Given the description of an element on the screen output the (x, y) to click on. 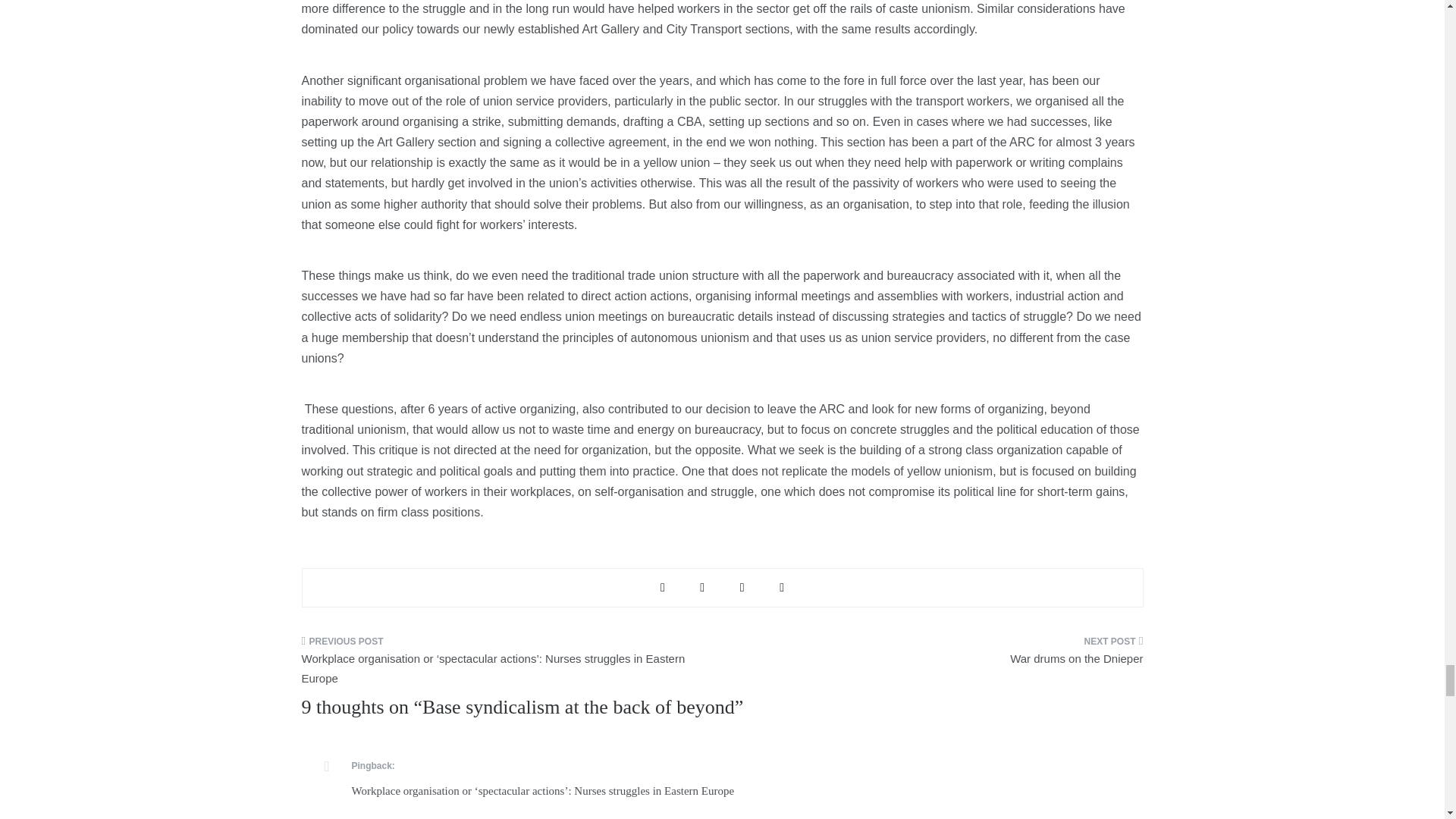
War drums on the Dnieper (937, 654)
